Given the description of an element on the screen output the (x, y) to click on. 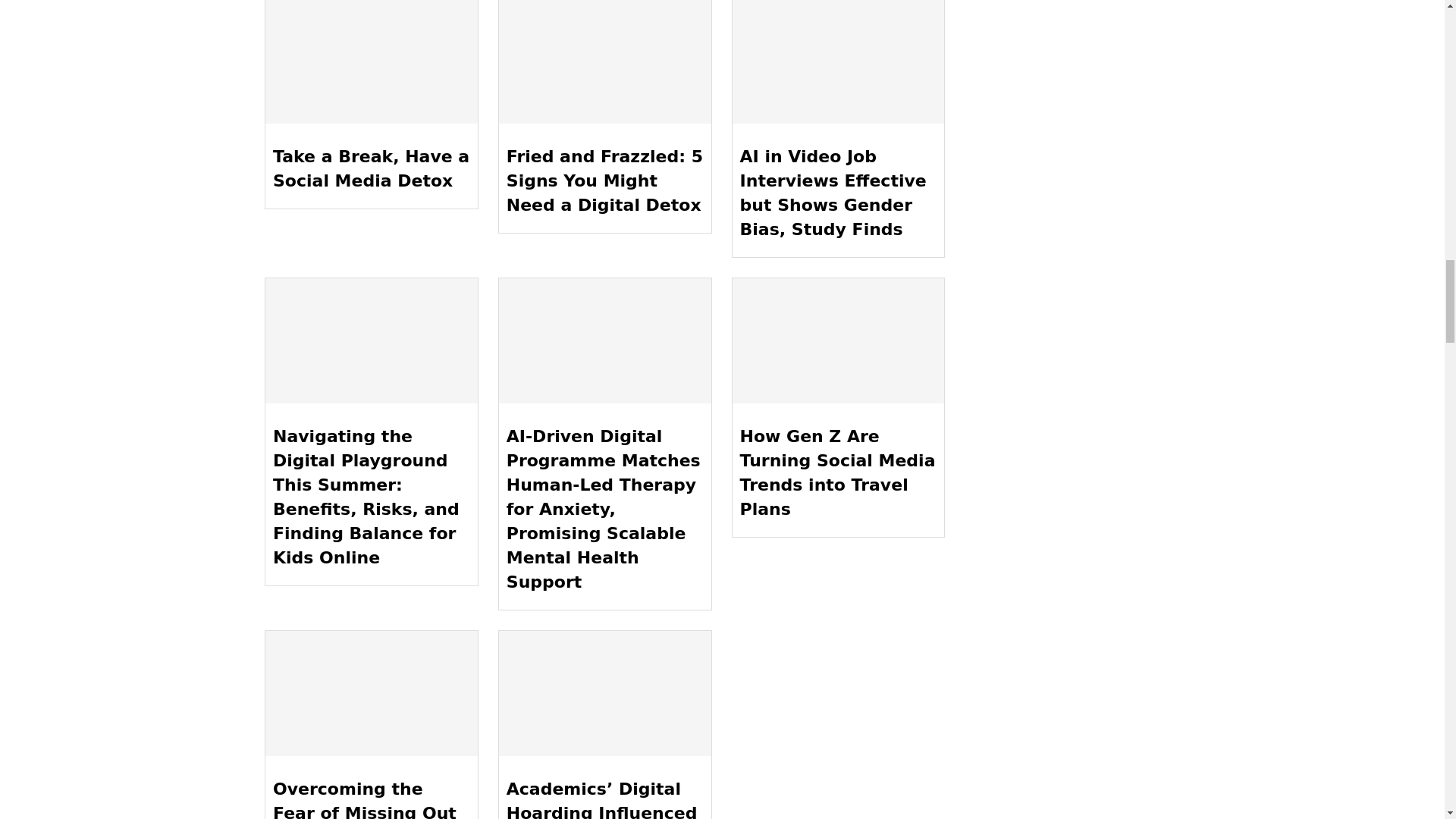
How Gen Z Are Turning Social Media Trends into Travel Plans (838, 340)
Fried and Frazzled: 5 Signs You Might Need a Digital Detox (605, 61)
Take a Break, Have a Social Media Detox (370, 61)
